Given the description of an element on the screen output the (x, y) to click on. 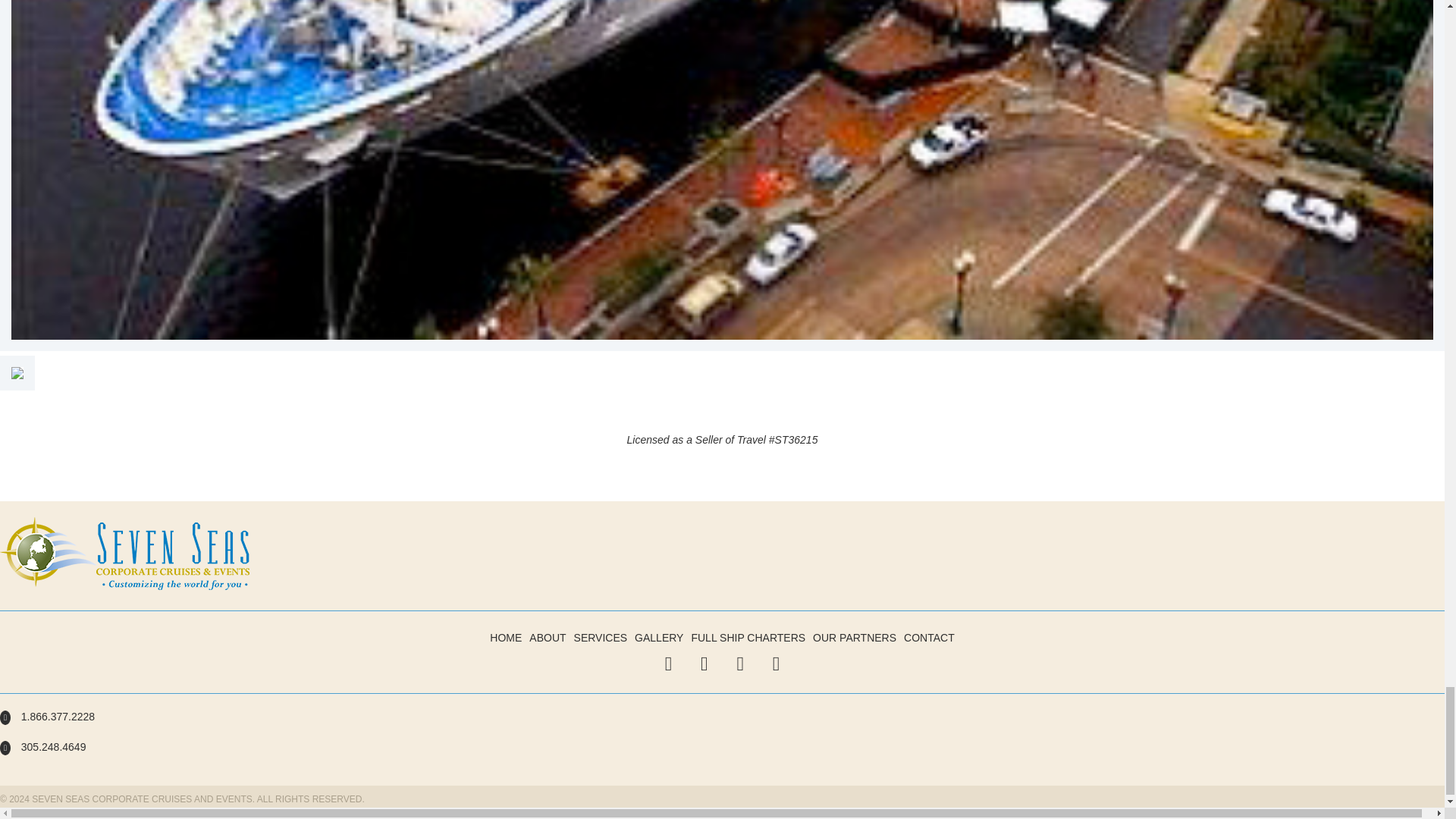
Follow us on Instagram (703, 664)
OUR PARTNERS (854, 637)
CONTACT (929, 637)
professional web design and web development (112, 811)
ABOUT (547, 637)
FULL SHIP CHARTERS (747, 637)
Check us out on Linked In (739, 664)
SERVICES (600, 637)
Follow us on Twitter (668, 664)
GALLERY (658, 637)
HOME (505, 637)
PROFESSIONAL WEB DESIGN AND DEVELOPMENT (112, 811)
Check our videos on YouTube (775, 664)
